Given the description of an element on the screen output the (x, y) to click on. 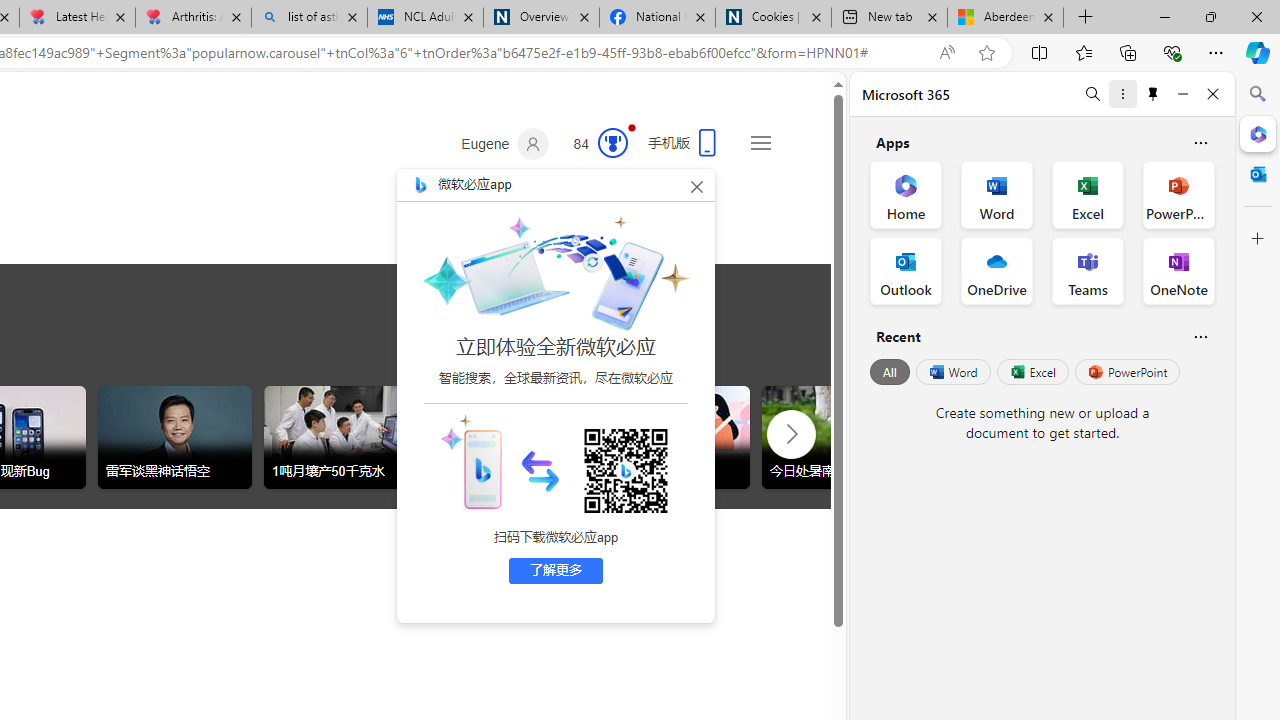
AutomationID: tob_right_arrow (791, 433)
Microsoft Rewards 84 (594, 143)
NCL Adult Asthma Inhaler Choice Guideline (424, 17)
Cookies | About | NICE (772, 17)
Excel Office App (1087, 194)
Unpin side pane (1153, 93)
OneNote Office App (1178, 270)
list of asthma inhalers uk - Search (309, 17)
Animation (632, 127)
Word (952, 372)
